Given the description of an element on the screen output the (x, y) to click on. 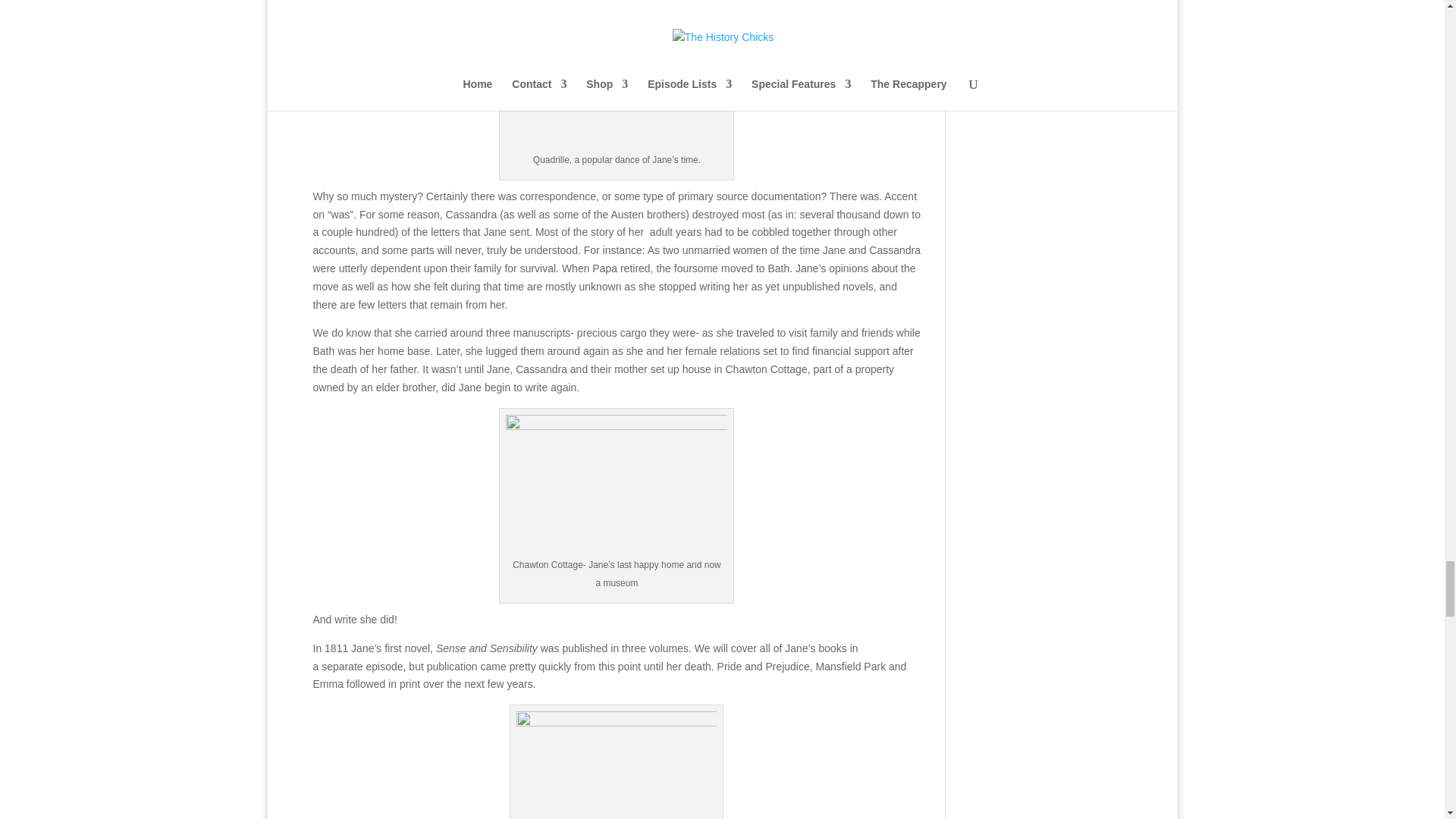
JAChowton House (615, 485)
JAQuadrille (615, 94)
JA-SenseAndSensibilityTitlePage (616, 765)
